Given the description of an element on the screen output the (x, y) to click on. 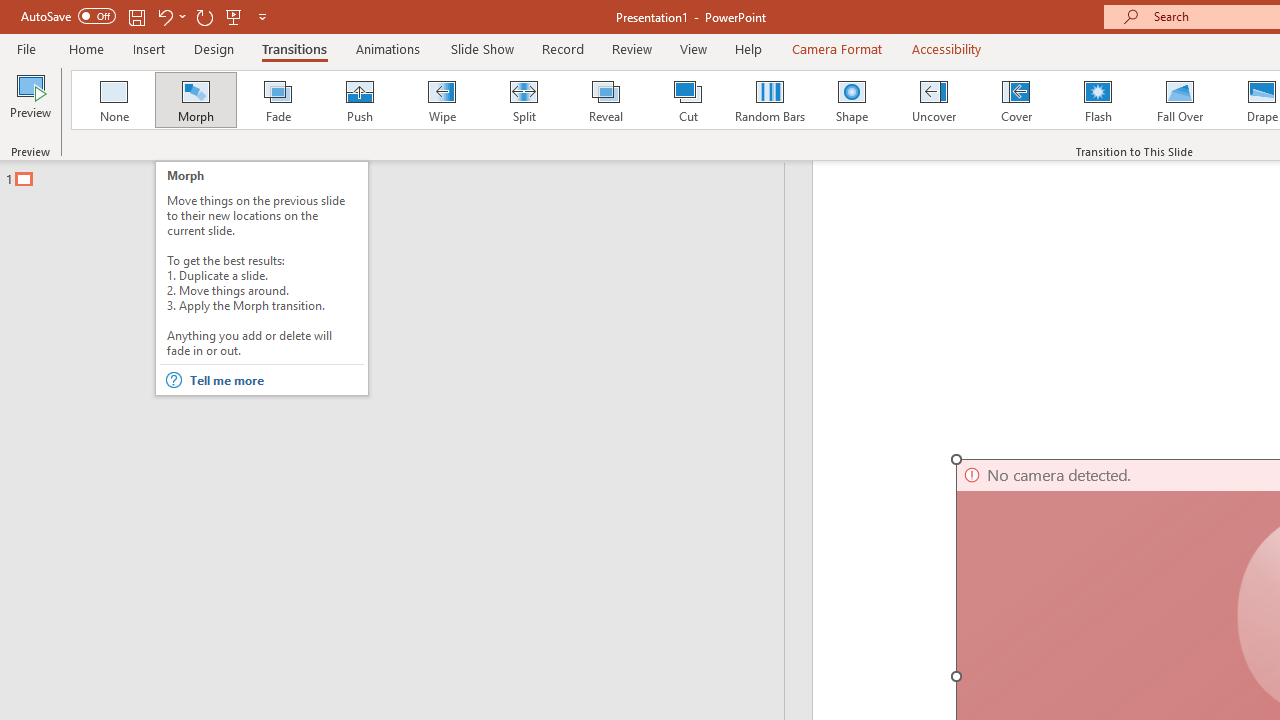
Flash (1098, 100)
Tell me more (275, 380)
Fall Over (1180, 100)
